Given the description of an element on the screen output the (x, y) to click on. 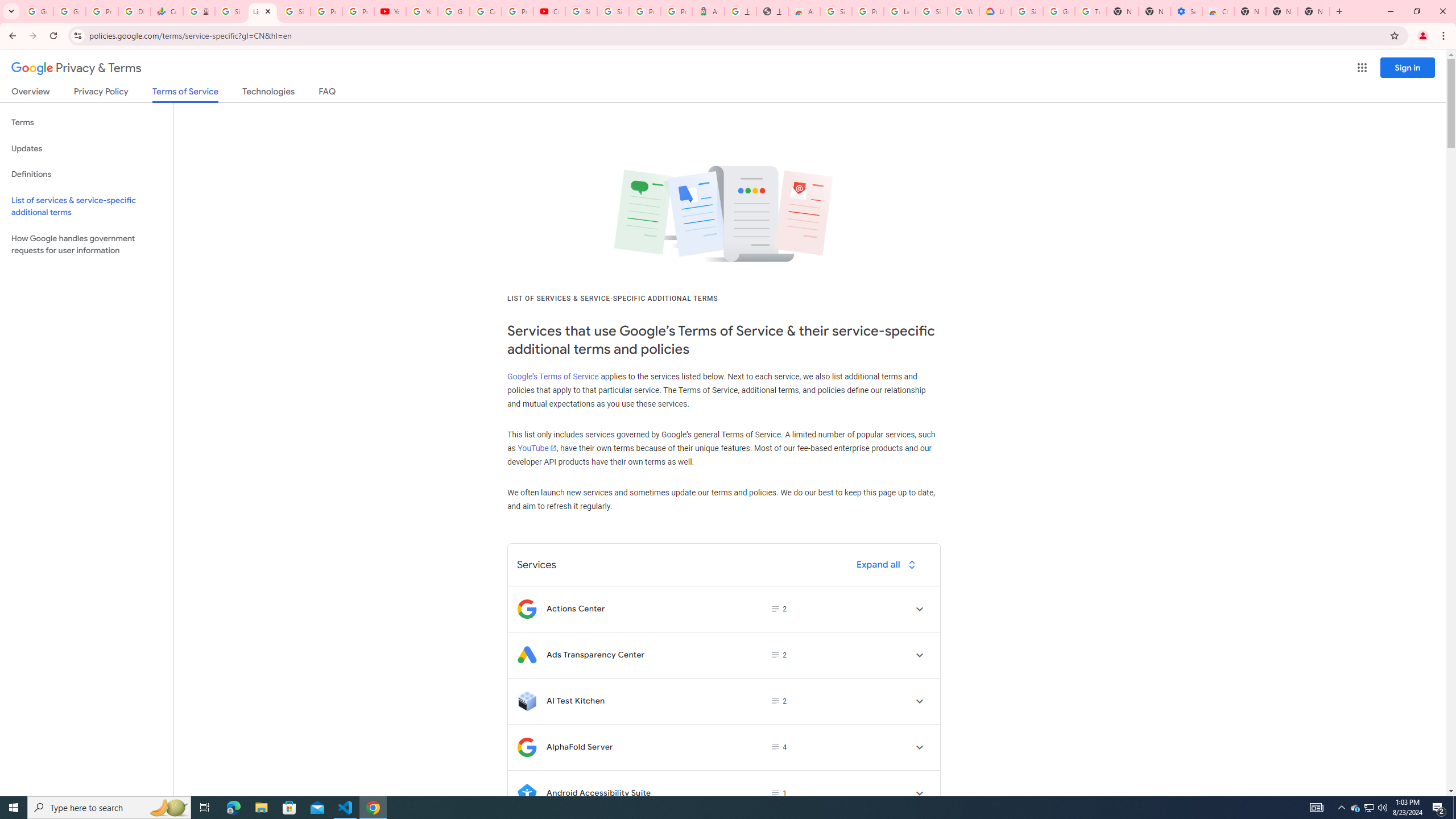
YouTube (421, 11)
Sign in - Google Accounts (1027, 11)
Logo for Ads Transparency Center (526, 654)
Sign in - Google Accounts (613, 11)
Sign in - Google Accounts (836, 11)
